Given the description of an element on the screen output the (x, y) to click on. 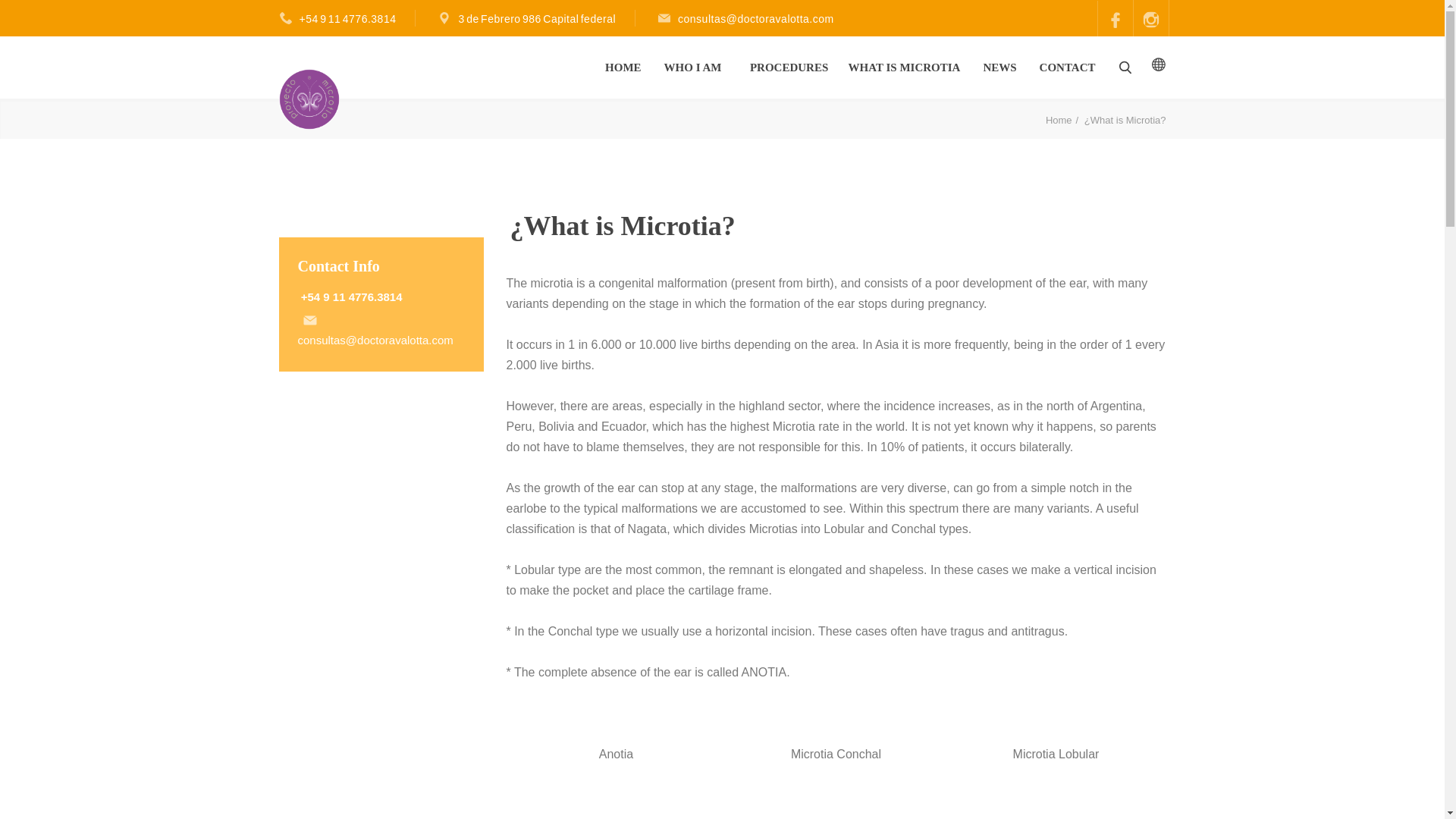
HOME (623, 66)
telephone-1 (286, 18)
placeholder-for-map-1 (445, 18)
black-envelope (309, 319)
WHAT IS MICROTIA (904, 66)
sphere (1158, 63)
WHO I AM (692, 66)
black-envelope (665, 18)
PROCEDURES (790, 66)
Home (1063, 120)
Search (1124, 67)
CONTACT (1067, 66)
